Given the description of an element on the screen output the (x, y) to click on. 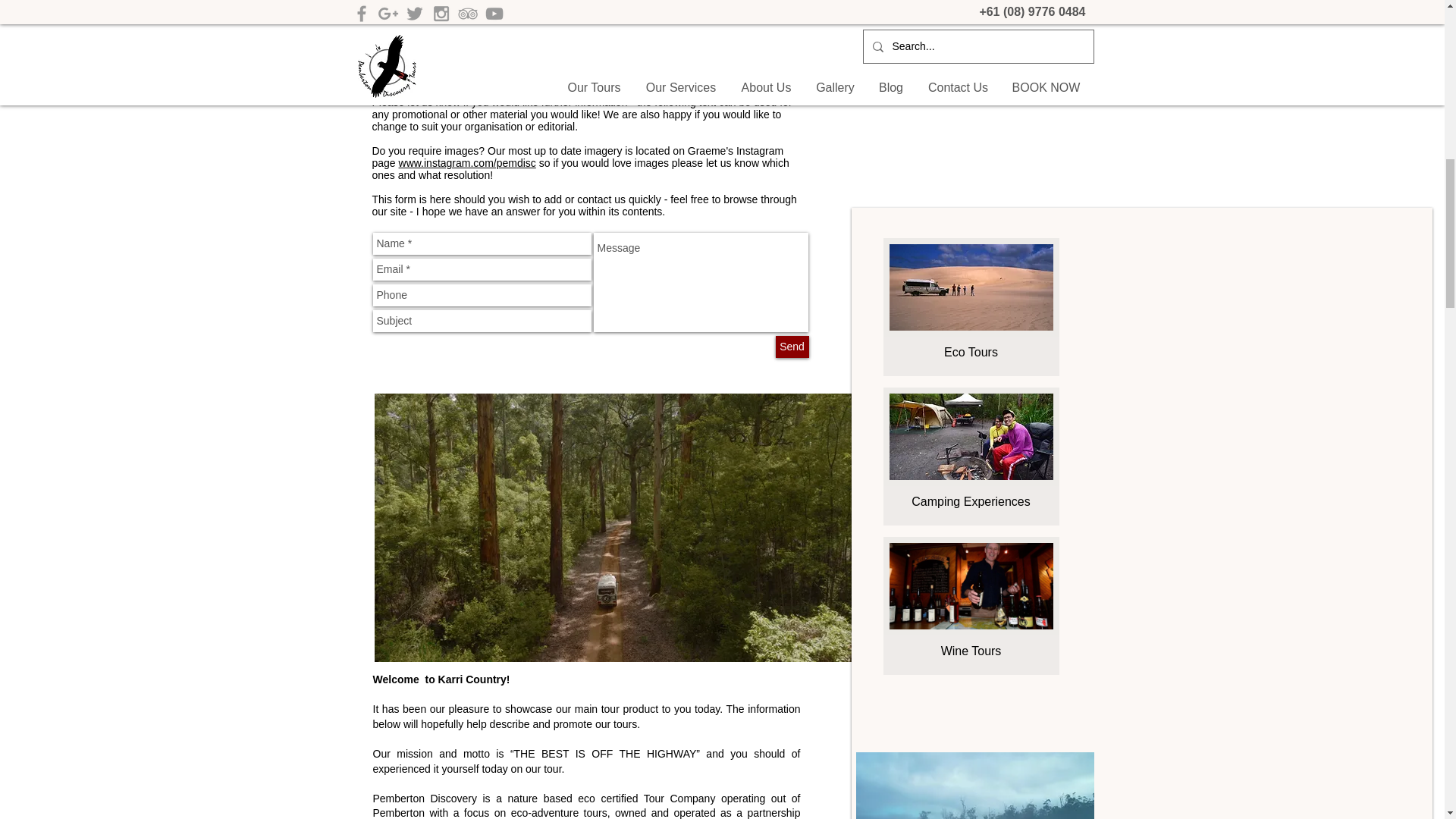
Send (791, 346)
